Given the description of an element on the screen output the (x, y) to click on. 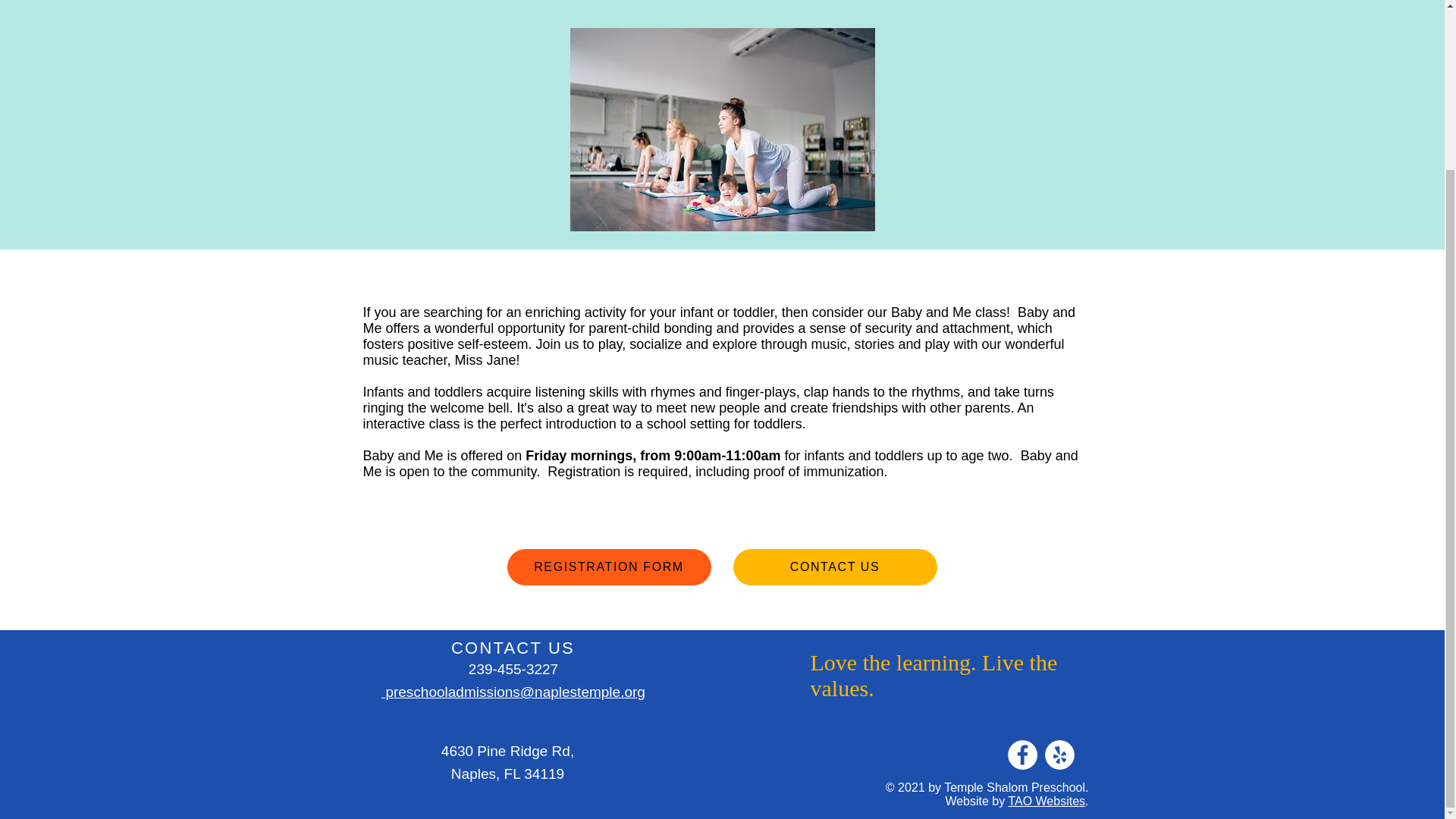
REGISTRATION FORM (608, 566)
Babies and Yoga (722, 128)
TAO Websites (1045, 800)
CONTACT US (834, 566)
239-455-3227 (512, 668)
